Given the description of an element on the screen output the (x, y) to click on. 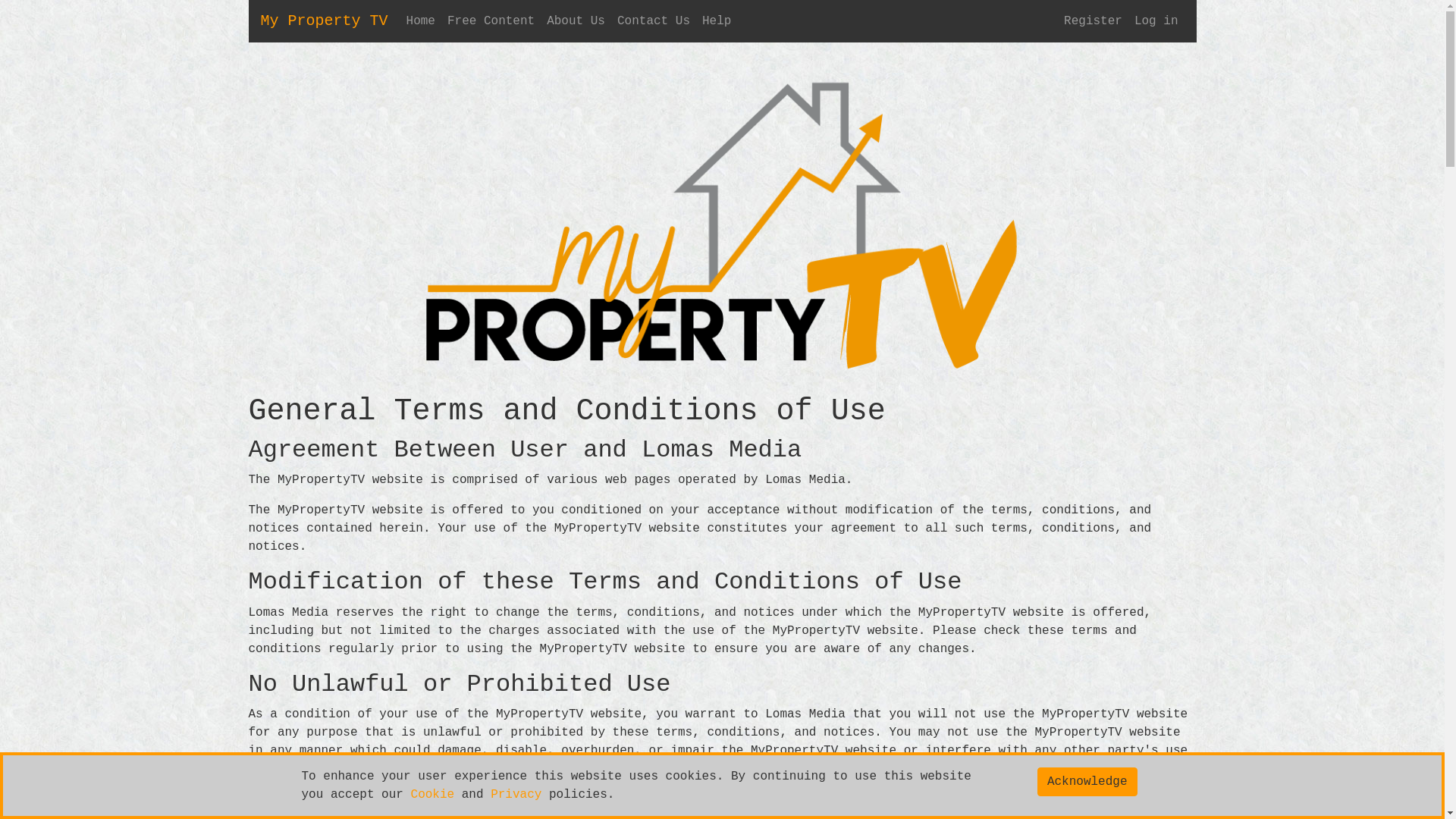
My Property TV Element type: text (324, 21)
Free Content Element type: text (490, 21)
Acknowledge Element type: text (1087, 781)
Home Element type: text (420, 21)
Help Element type: text (716, 21)
Contact Us Element type: text (653, 21)
Privacy Element type: text (515, 794)
Cookie Element type: text (433, 794)
Register Element type: text (1092, 21)
About Us Element type: text (575, 21)
Log in Element type: text (1156, 21)
